Given the description of an element on the screen output the (x, y) to click on. 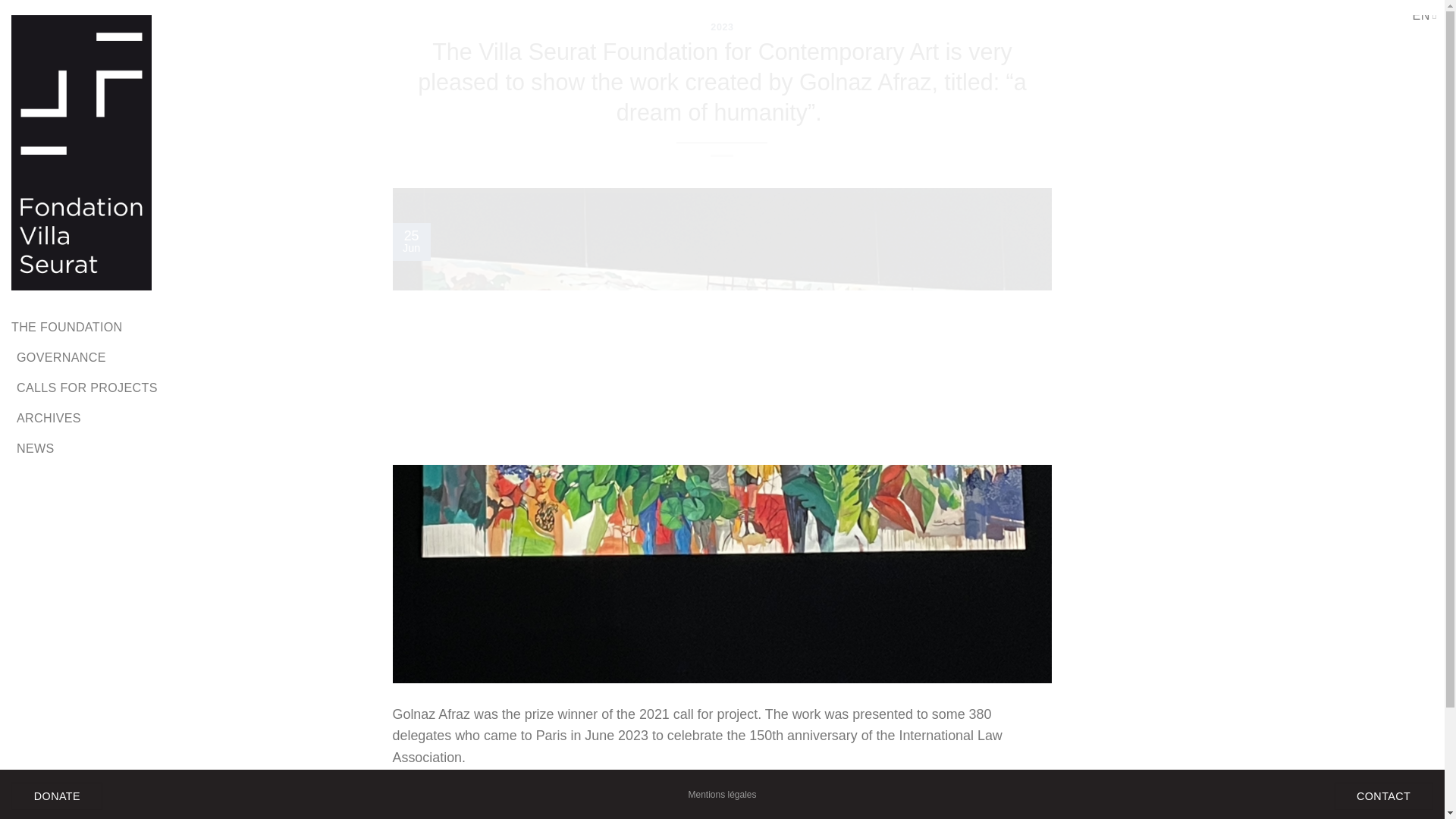
CALLS FOR PROJECTS (86, 387)
GOVERNANCE (61, 357)
NEWS (35, 447)
THE FOUNDATION (66, 326)
DONATE (56, 795)
CONTACT (1383, 795)
ARCHIVES (48, 417)
2023 (721, 27)
